Given the description of an element on the screen output the (x, y) to click on. 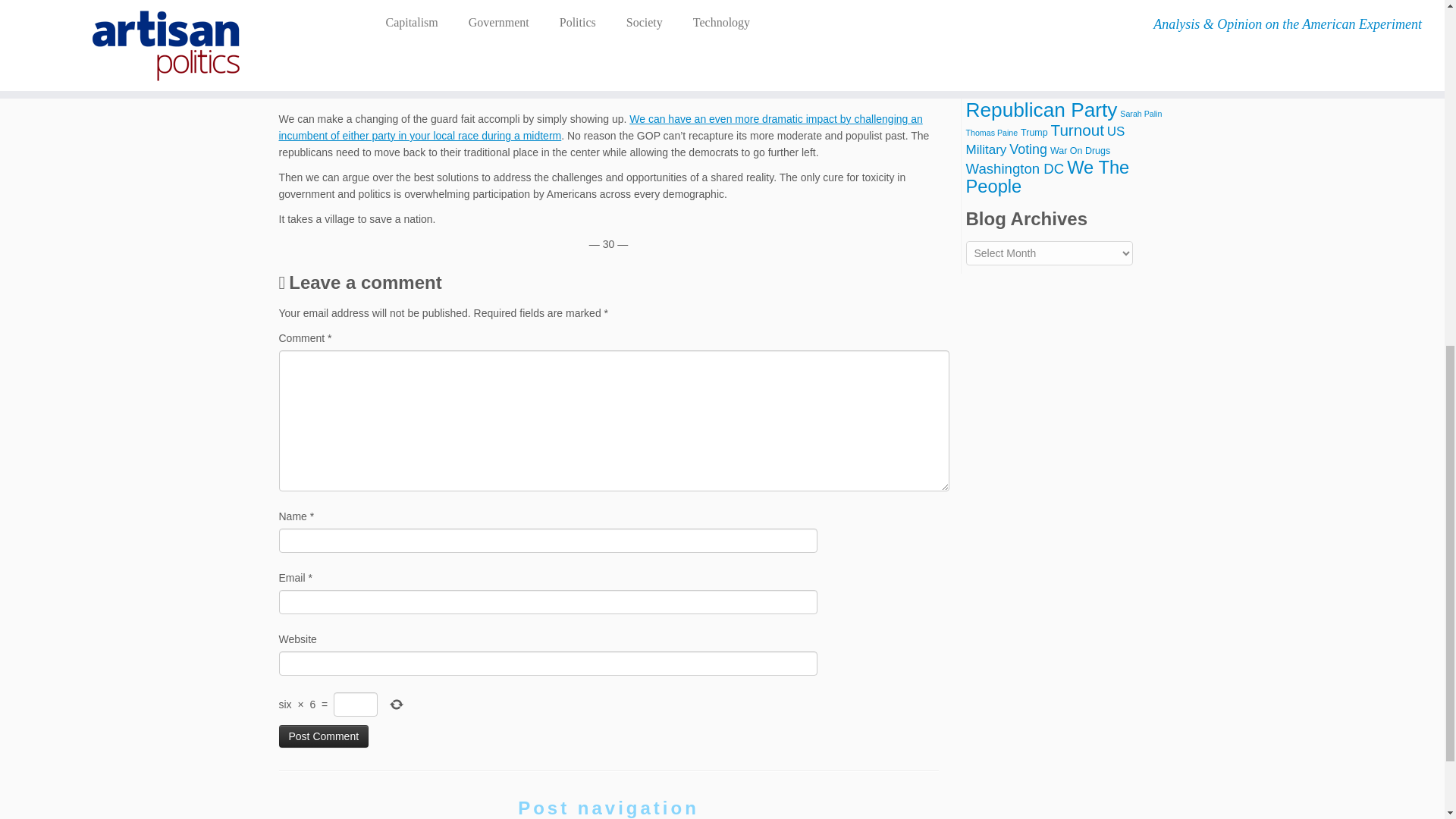
Post Comment (324, 735)
Post Comment (324, 735)
